Given the description of an element on the screen output the (x, y) to click on. 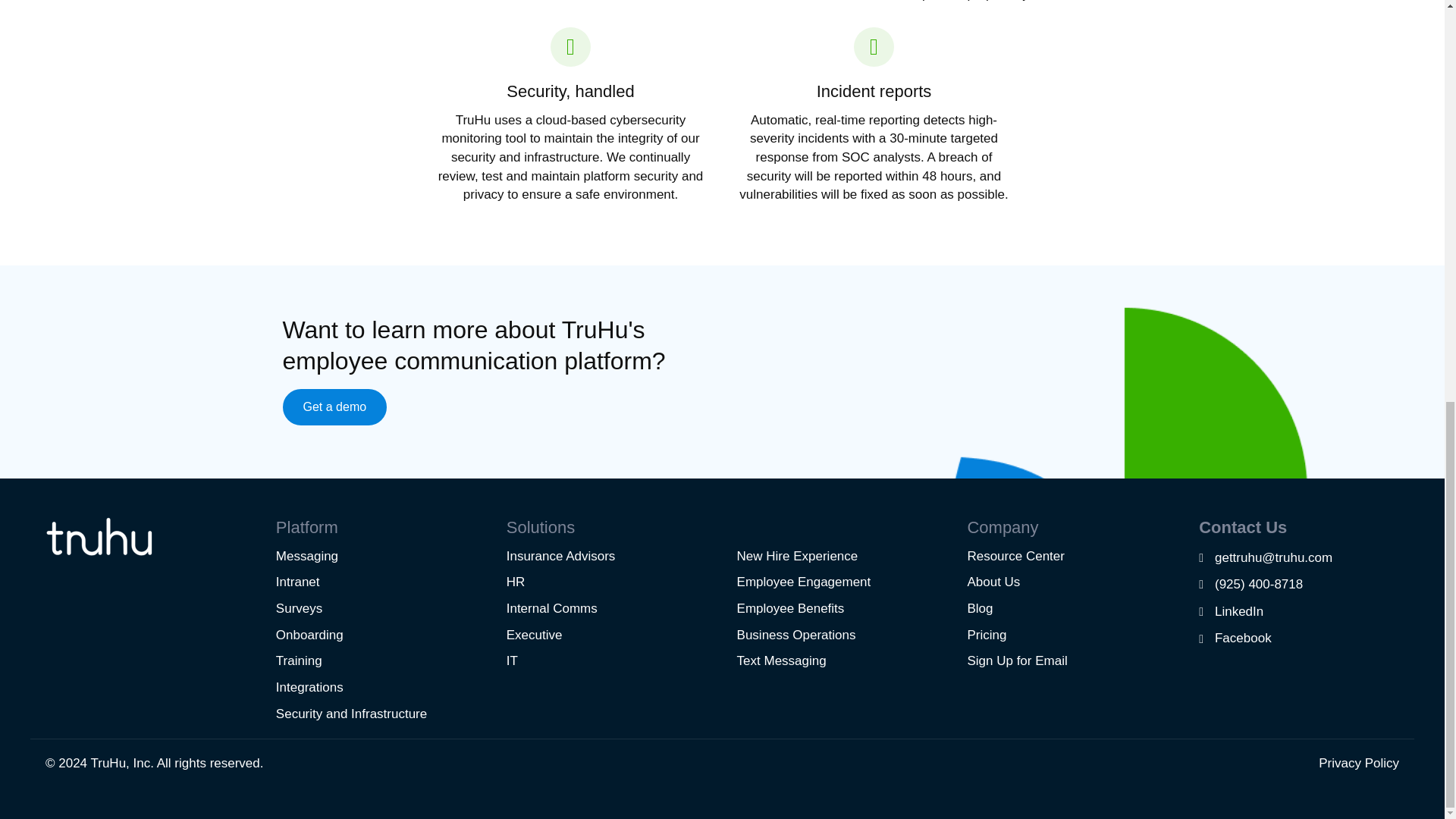
Platform (306, 527)
white-truhu-logo (99, 536)
Solutions (540, 527)
